Given the description of an element on the screen output the (x, y) to click on. 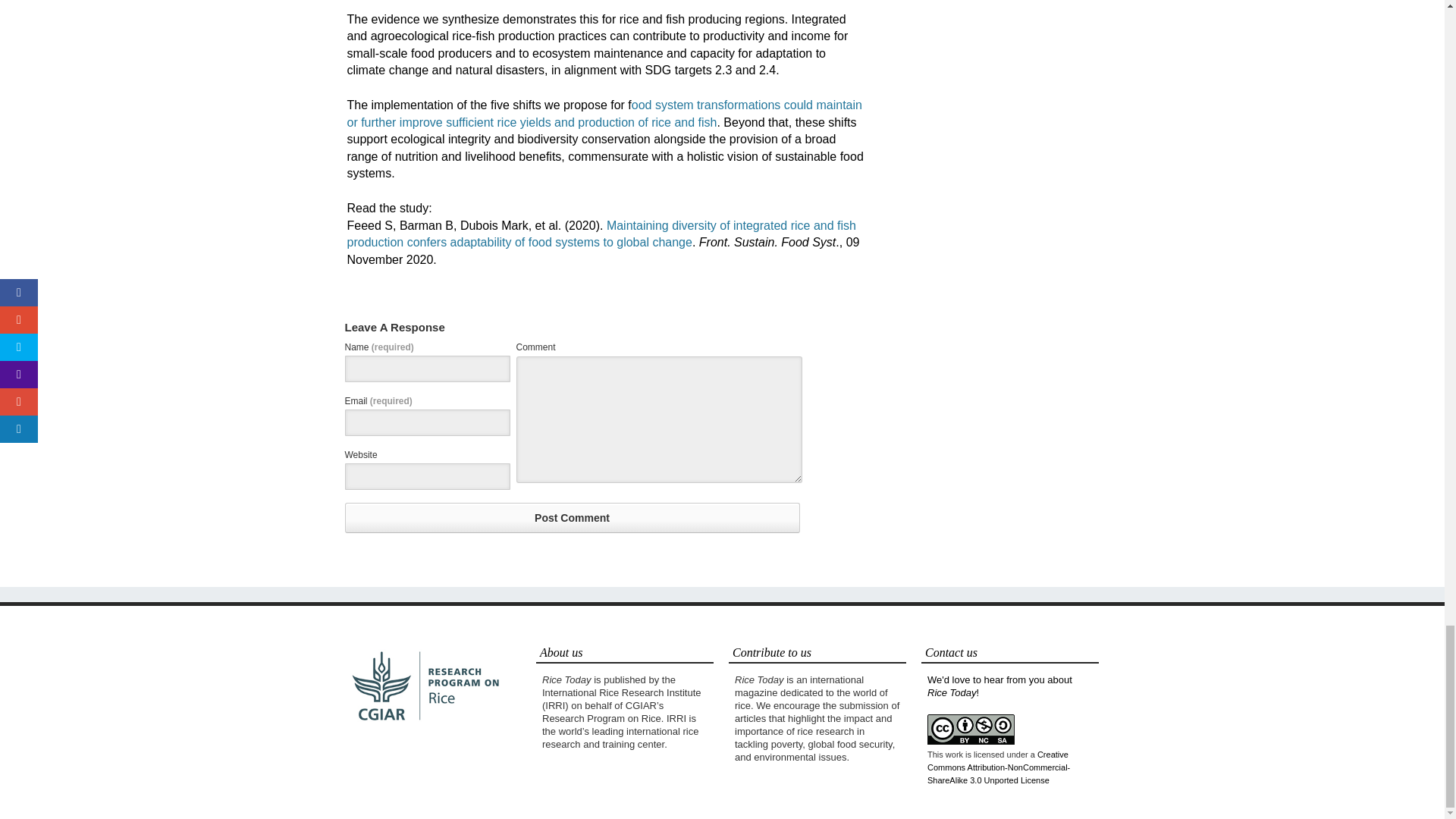
 Post Comment  (571, 517)
